Given the description of an element on the screen output the (x, y) to click on. 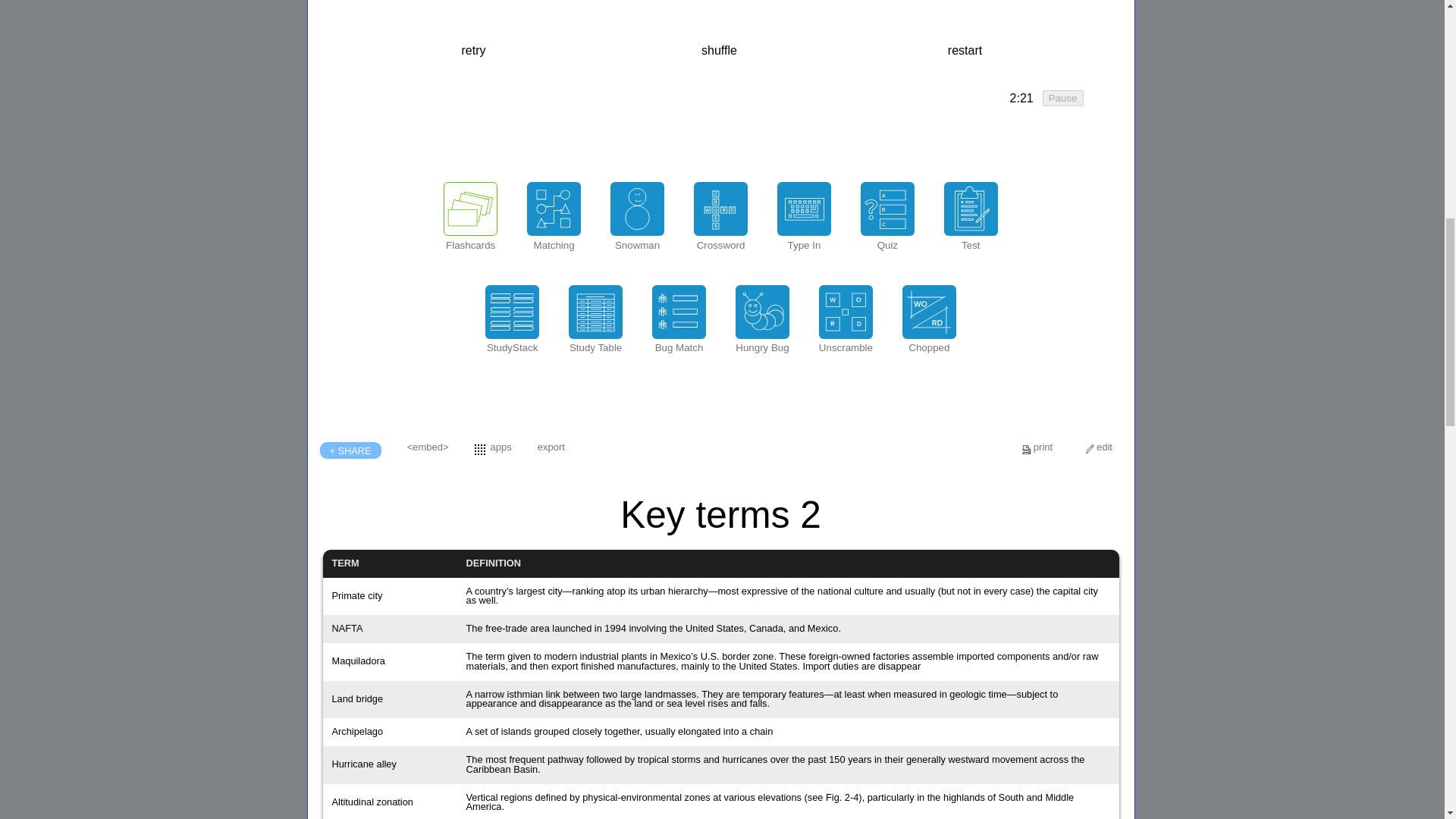
Pause (1062, 98)
Move all cards back to the 'remaining' box (964, 50)
Shuffle the cards in the 'remaining' box (718, 50)
click to hide (1021, 98)
export (550, 446)
apps (501, 446)
